Given the description of an element on the screen output the (x, y) to click on. 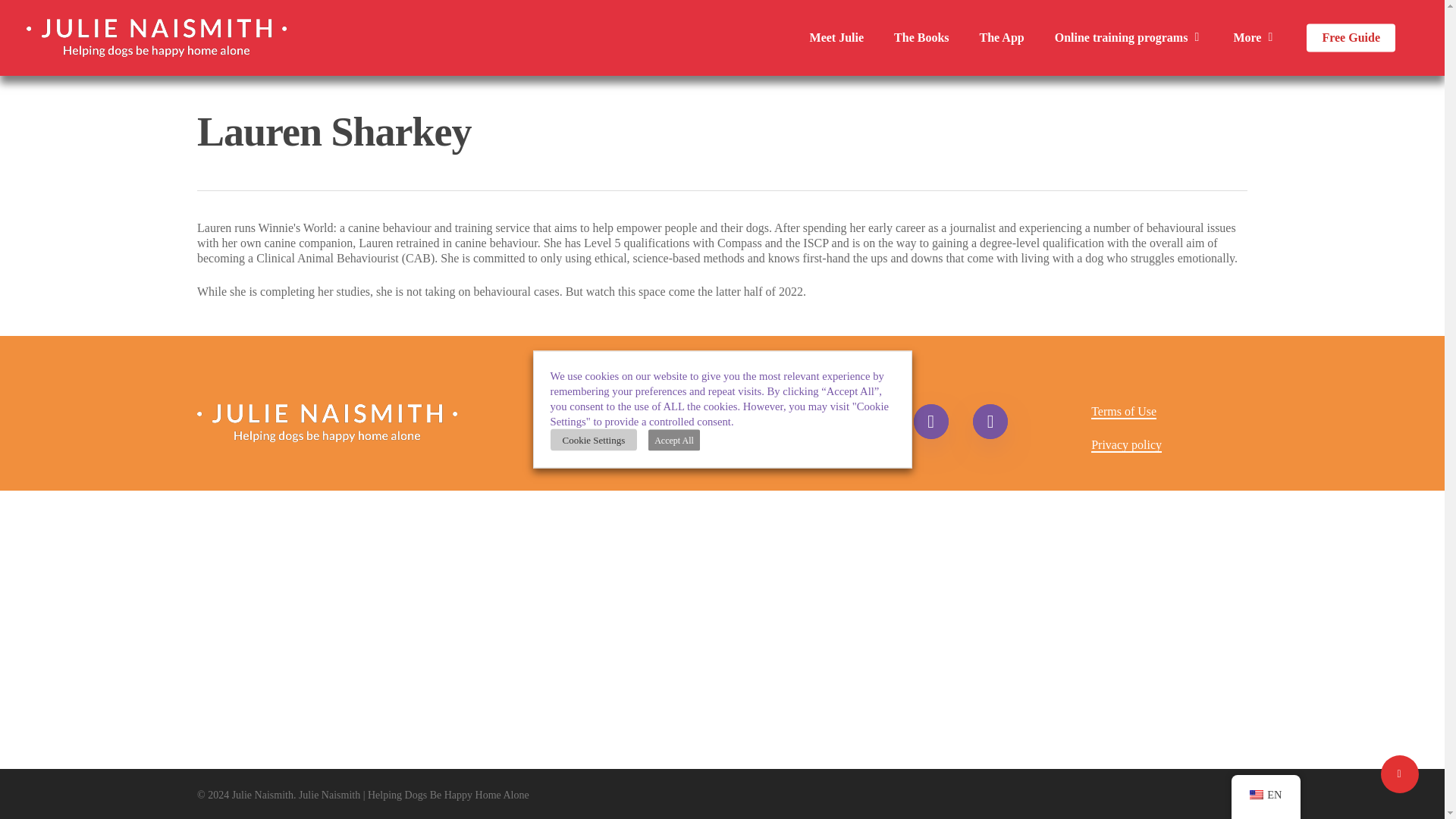
Online training programs (1129, 37)
The App (1002, 37)
The Books (921, 37)
Meet Julie (836, 37)
Privacy policy (1125, 445)
More (1254, 37)
English (1256, 794)
Free Guide (1350, 37)
Terms of Use (1123, 411)
